Given the description of an element on the screen output the (x, y) to click on. 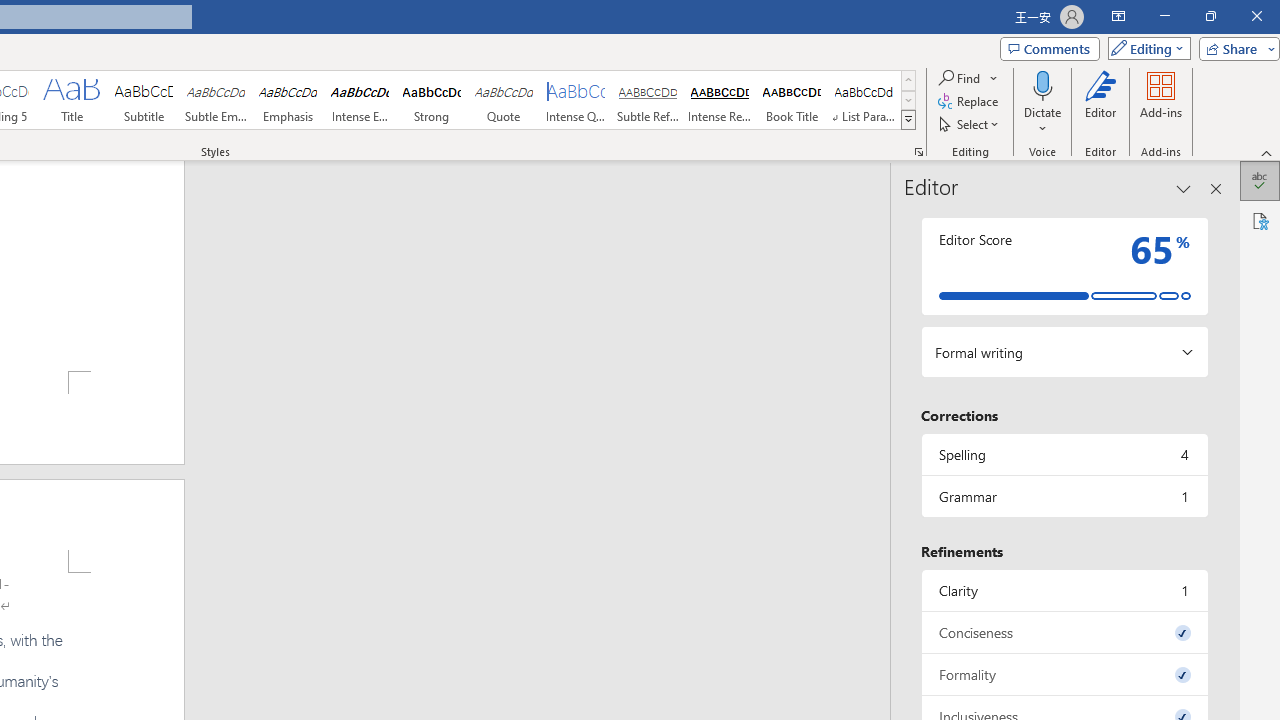
Emphasis (287, 100)
